Given the description of an element on the screen output the (x, y) to click on. 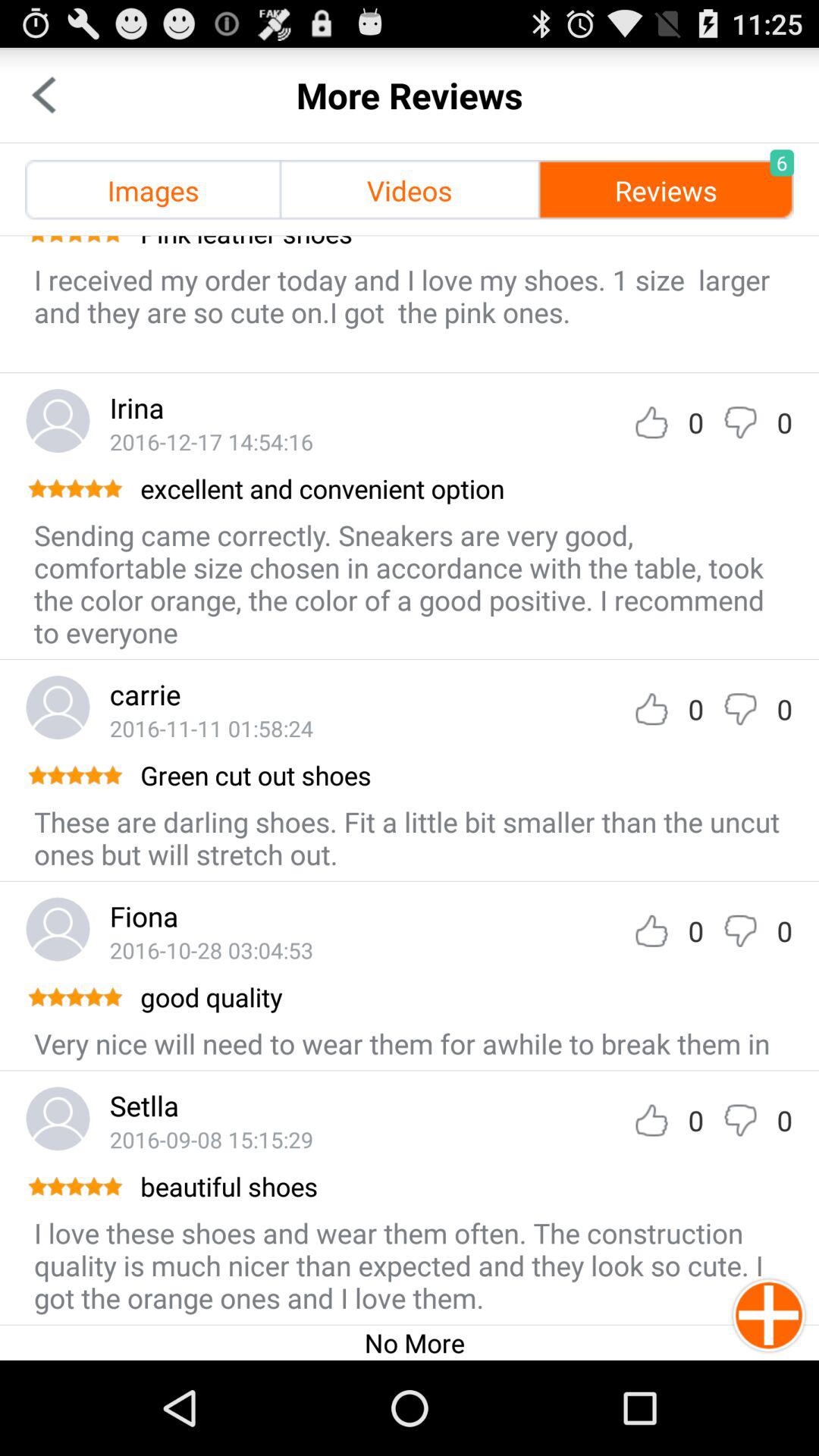
tap the very nice will icon (402, 1043)
